Given the description of an element on the screen output the (x, y) to click on. 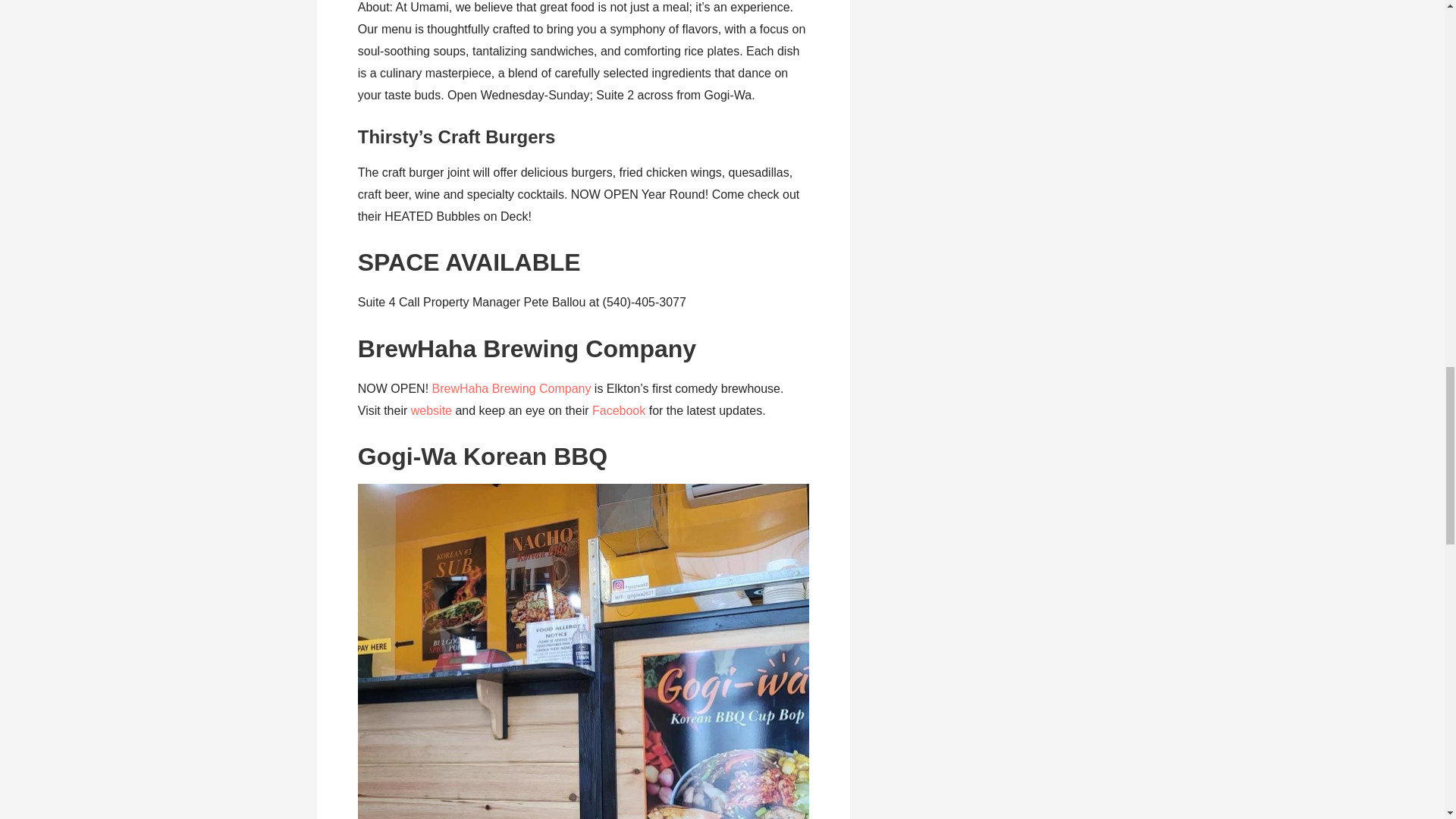
Facebook (618, 410)
website (430, 410)
BrewHaha Brewing Company (511, 388)
